Given the description of an element on the screen output the (x, y) to click on. 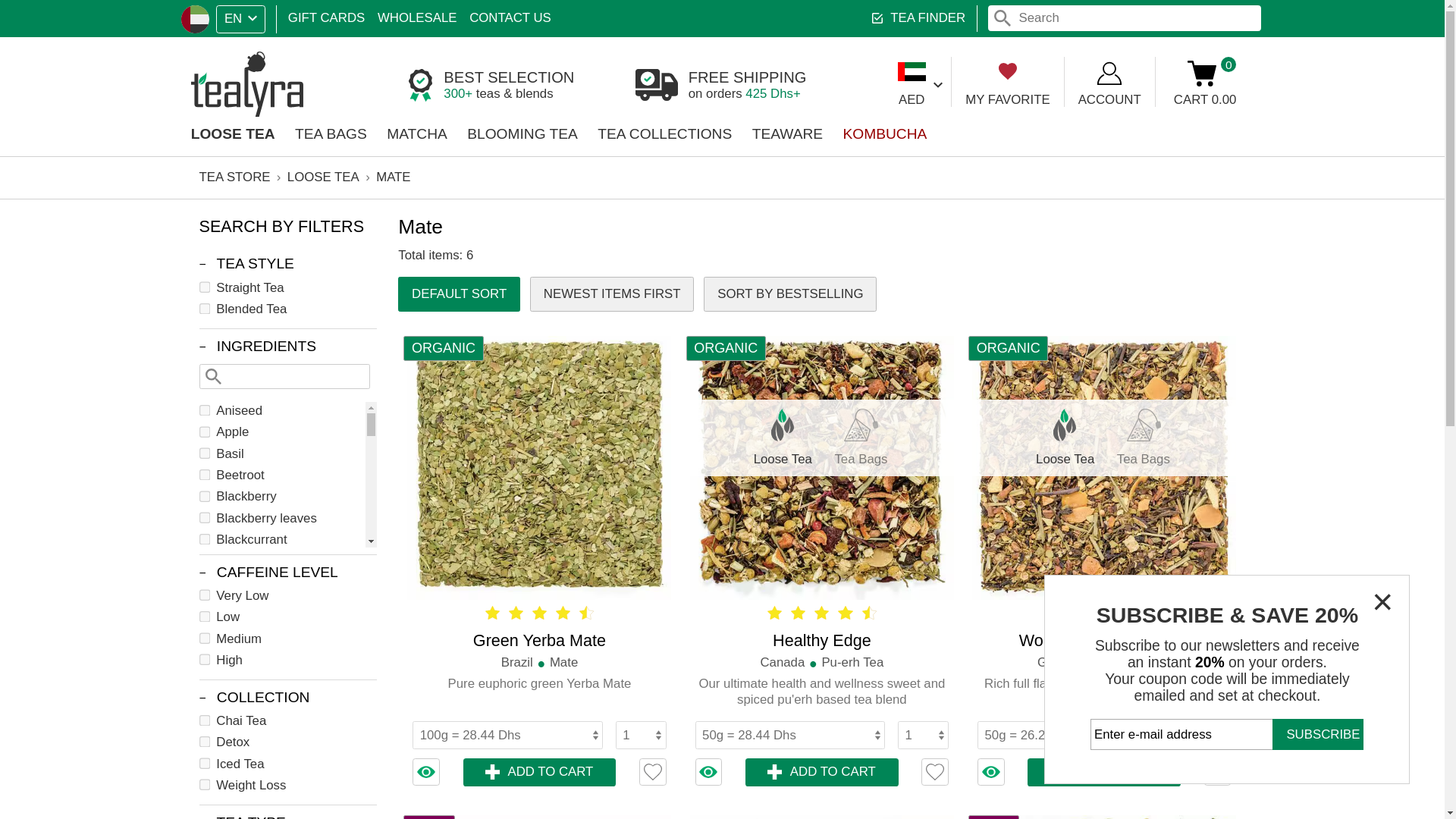
86 (170, 538)
EN (200, 15)
51 (170, 485)
48 (170, 359)
53 (170, 574)
WHOLESALE (347, 15)
216 (170, 257)
32 (170, 556)
LOOSE TEA (194, 111)
88 (170, 502)
ACCOUNT (924, 68)
453 (170, 592)
87 (170, 610)
136 (170, 467)
GIFT CARDS (272, 15)
